Given the description of an element on the screen output the (x, y) to click on. 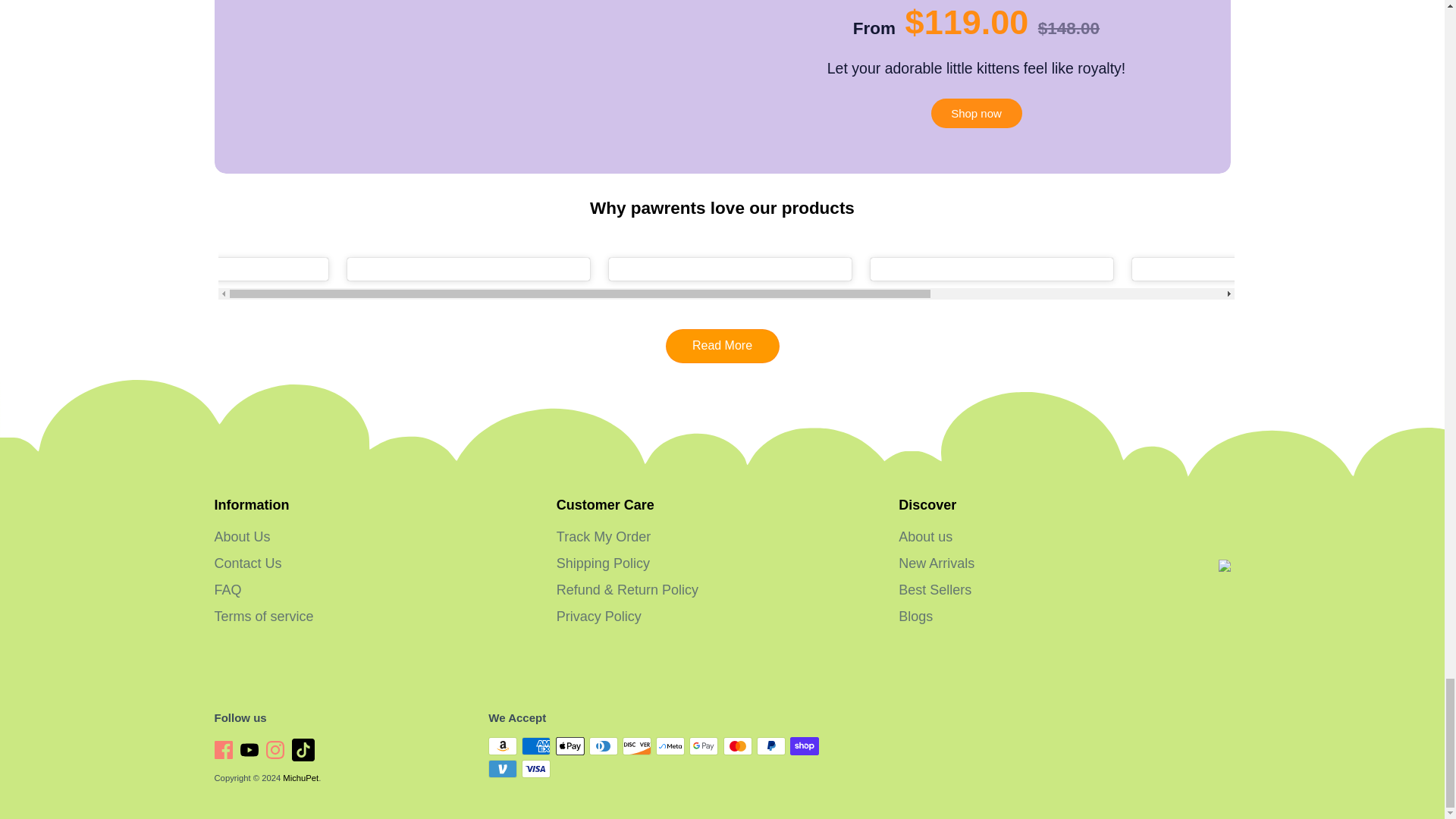
Discover (636, 746)
Apple Pay (570, 746)
Google Pay (702, 746)
Amazon (501, 746)
Meta Pay (670, 746)
Diners Club (603, 746)
Mastercard (737, 746)
Instagram (275, 750)
American Express (535, 746)
PayPal (771, 746)
